Given the description of an element on the screen output the (x, y) to click on. 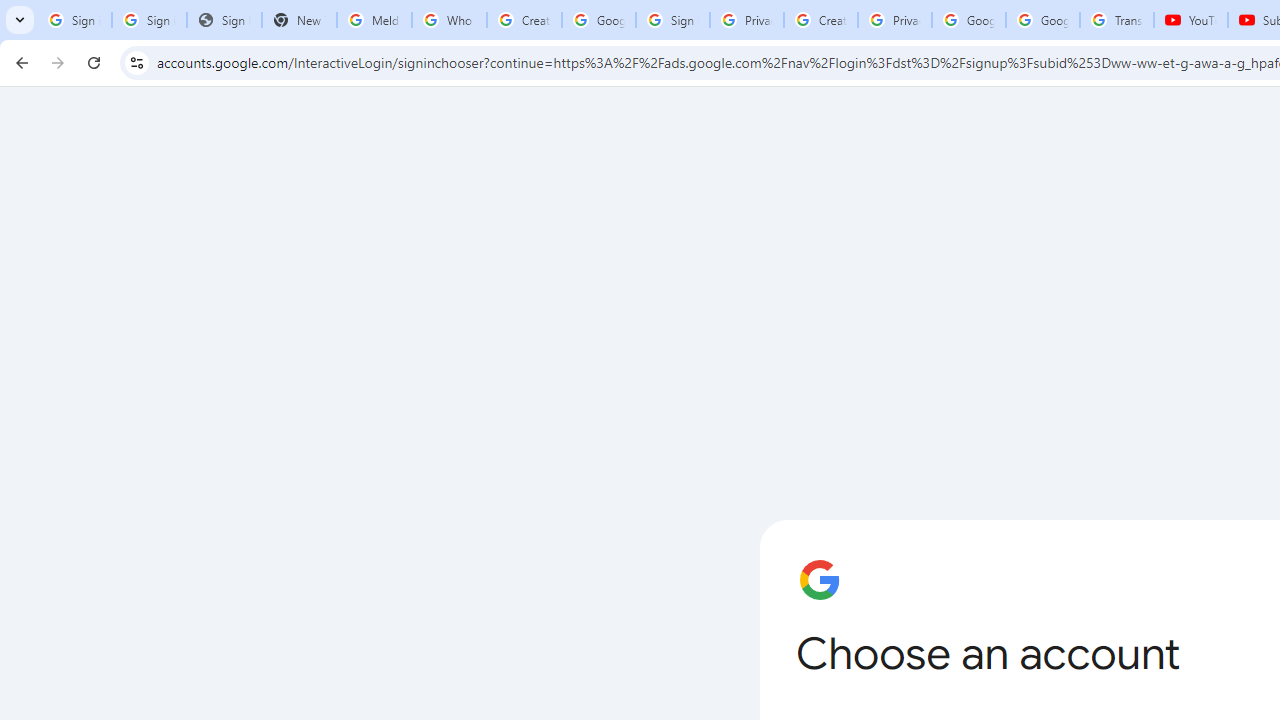
Search tabs (20, 20)
Sign in - Google Accounts (148, 20)
View site information (136, 62)
Sign in - Google Accounts (673, 20)
Google Account (1043, 20)
Who is my administrator? - Google Account Help (449, 20)
